Given the description of an element on the screen output the (x, y) to click on. 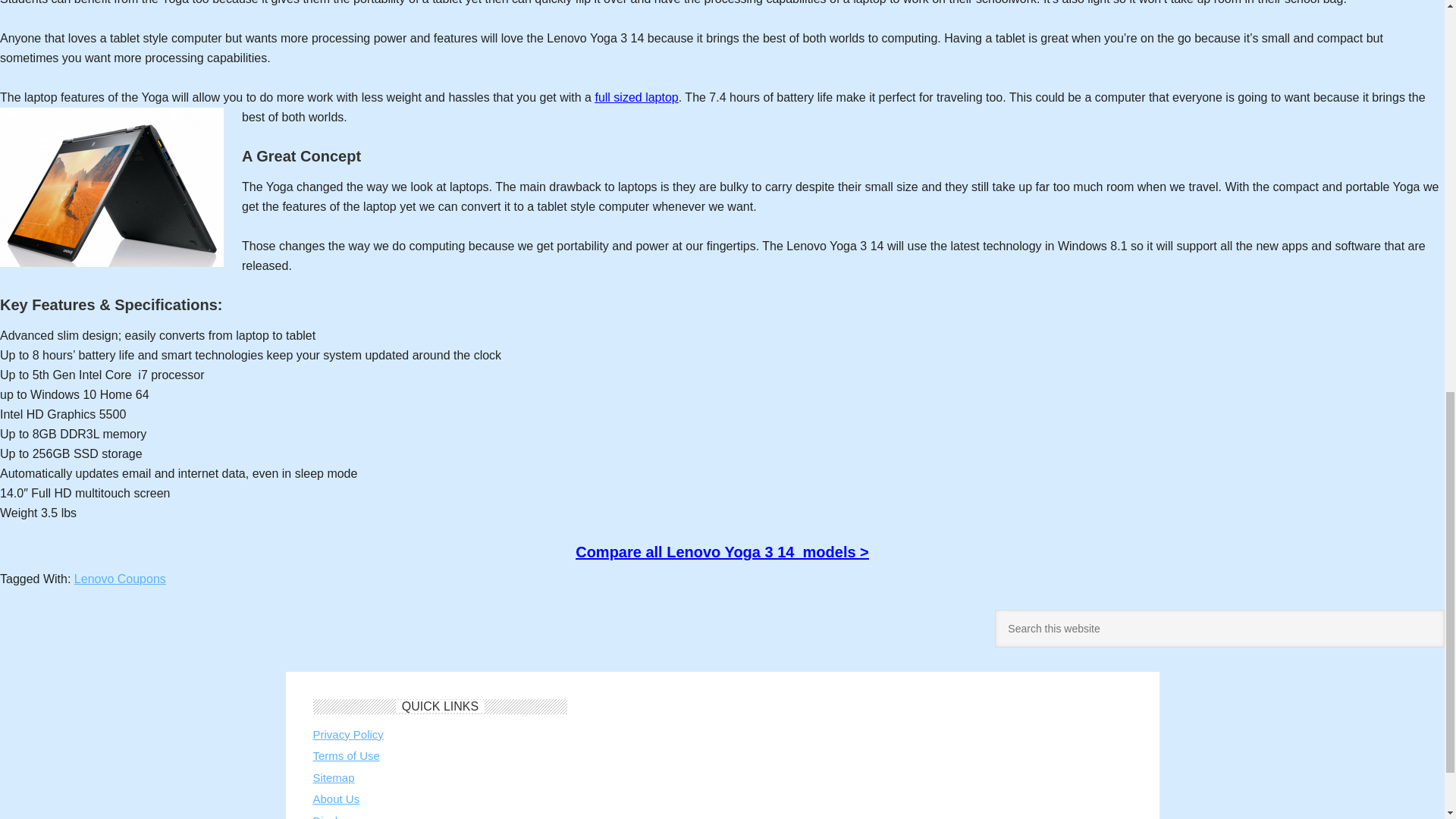
full sized laptop (636, 97)
Privacy Policy (347, 734)
Lenovo Coupons (119, 578)
Terms of Use (345, 755)
Sitemap (333, 777)
About Us (336, 798)
Disclosure (339, 816)
